Given the description of an element on the screen output the (x, y) to click on. 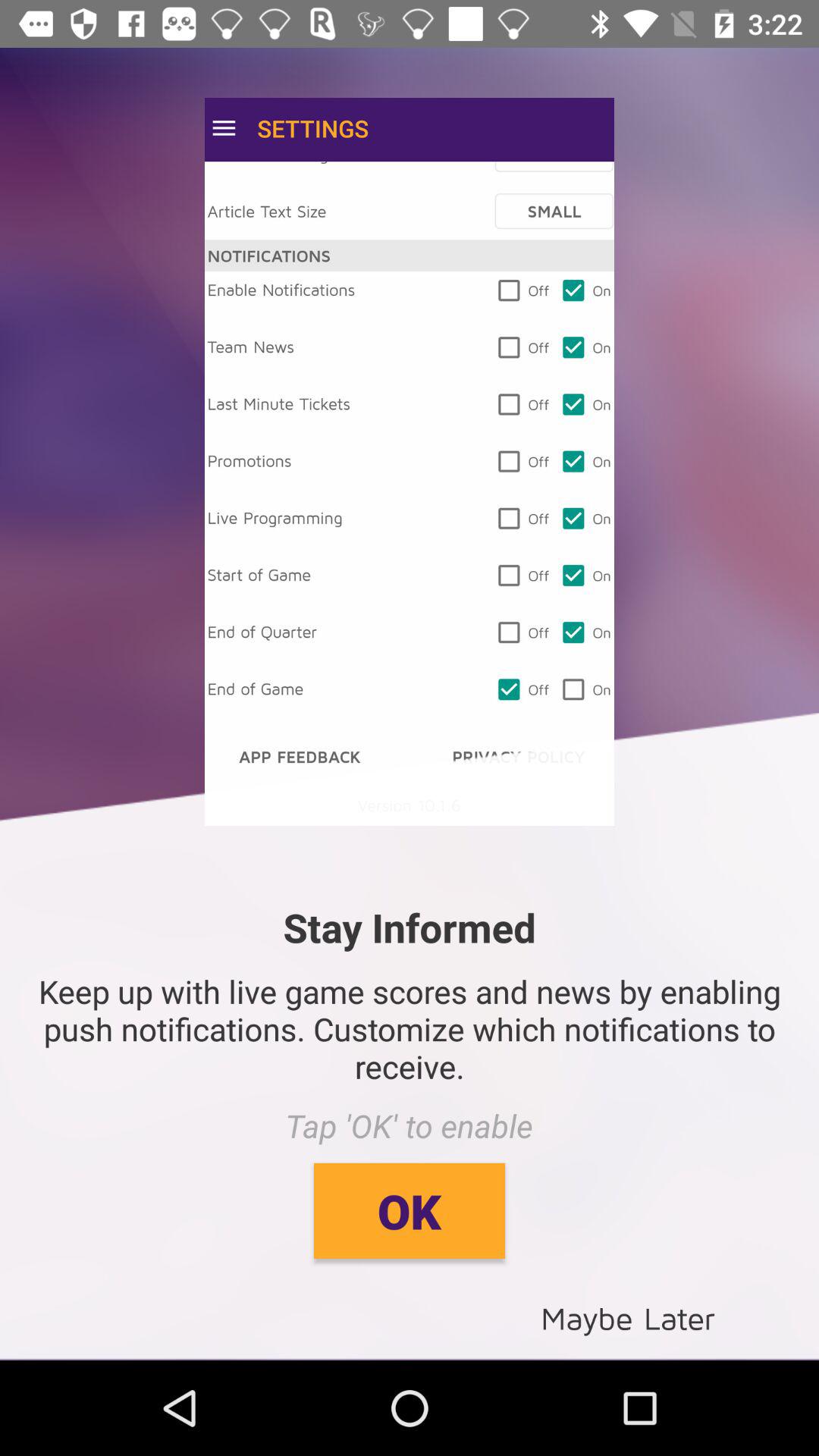
swipe to the maybe later (627, 1317)
